Given the description of an element on the screen output the (x, y) to click on. 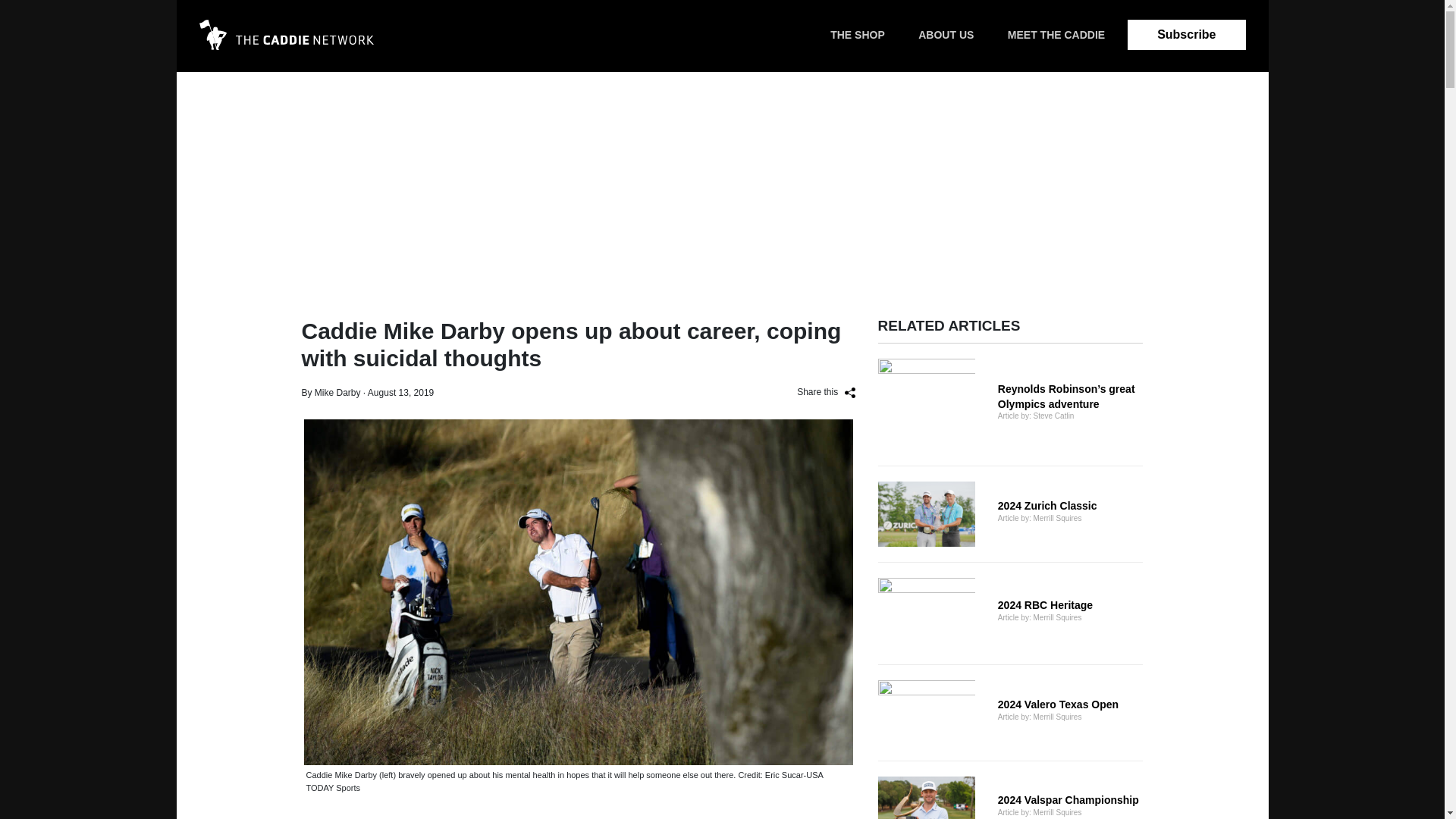
2024 Valspar Championship (1010, 797)
2024 RBC Heritage (1010, 613)
Group Created with Sketch. (1010, 613)
Subscribe (285, 45)
ABOUT US (1185, 34)
Group Created with Sketch. (945, 35)
THE SHOP (285, 34)
2024 Zurich Classic (857, 35)
